Given the description of an element on the screen output the (x, y) to click on. 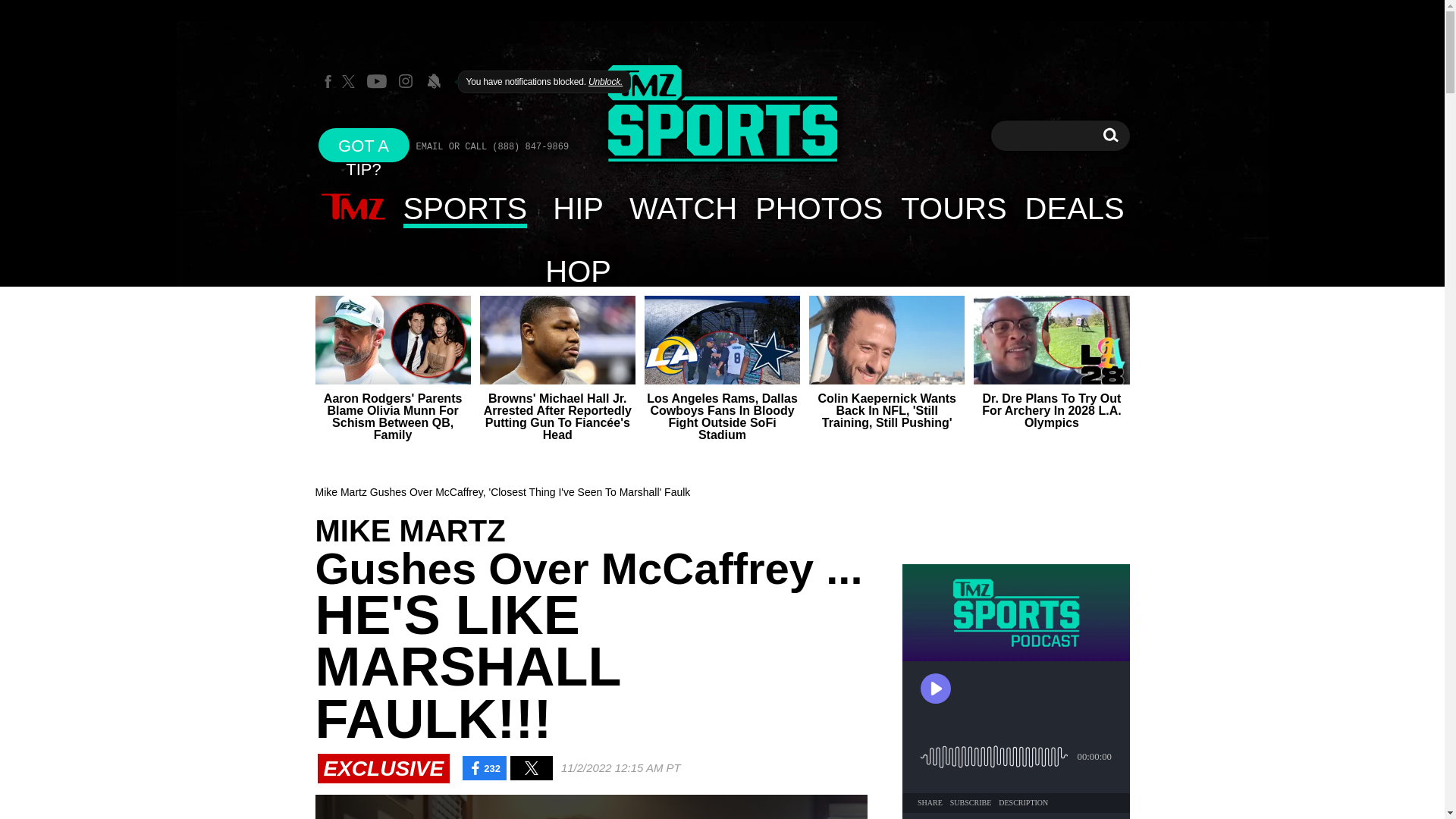
NEWS (353, 207)
GOT A TIP? (363, 144)
TMZ Sports (722, 113)
DEALS (1075, 207)
HIP HOP (577, 207)
TOURS (952, 207)
WATCH (1110, 135)
TMZ Sports (682, 207)
